Given the description of an element on the screen output the (x, y) to click on. 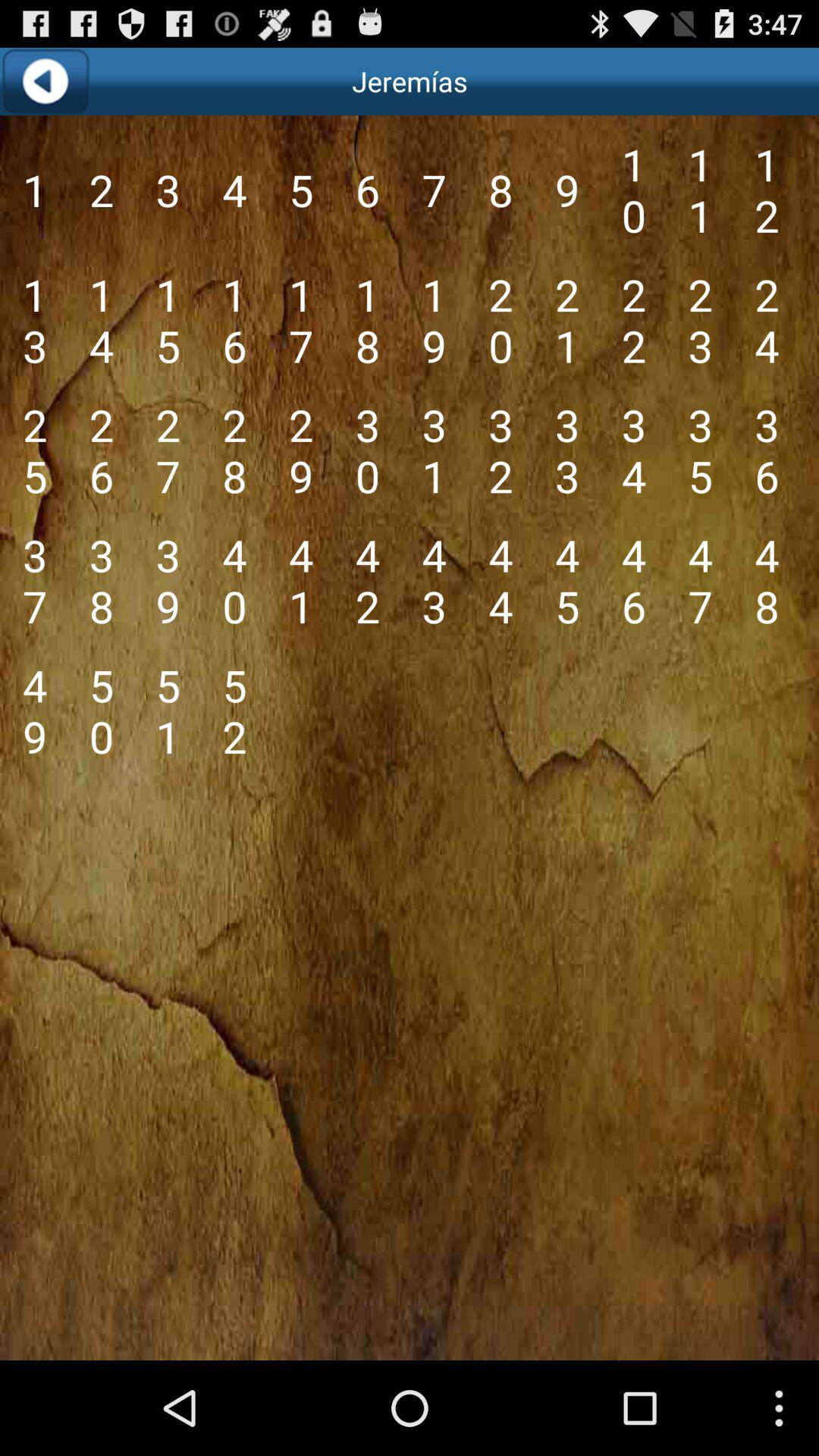
back button (45, 81)
